Given the description of an element on the screen output the (x, y) to click on. 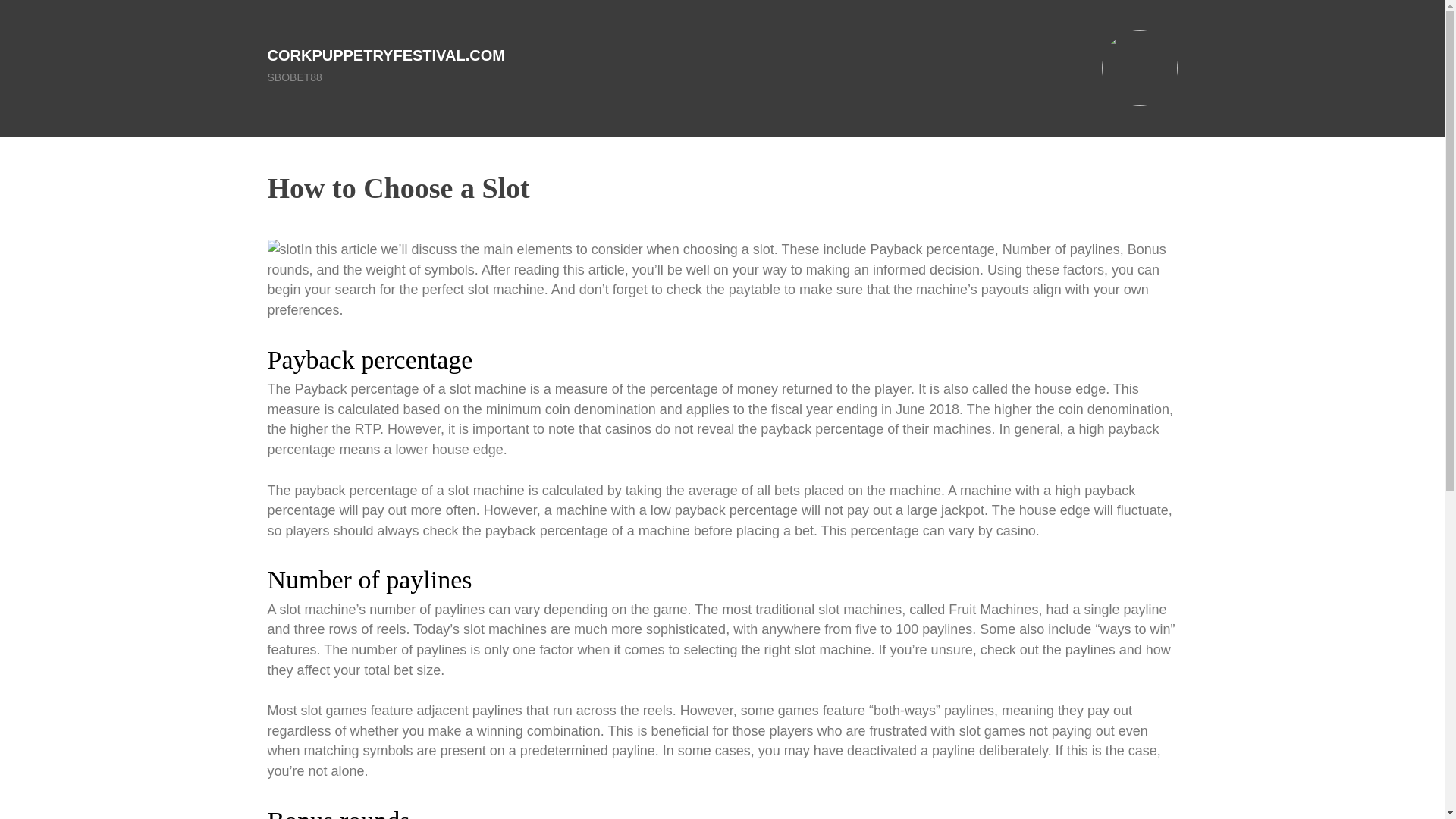
SBOBET88 (293, 77)
corkpuppetryfestival.com (384, 54)
CORKPUPPETRYFESTIVAL.COM (384, 54)
